Given the description of an element on the screen output the (x, y) to click on. 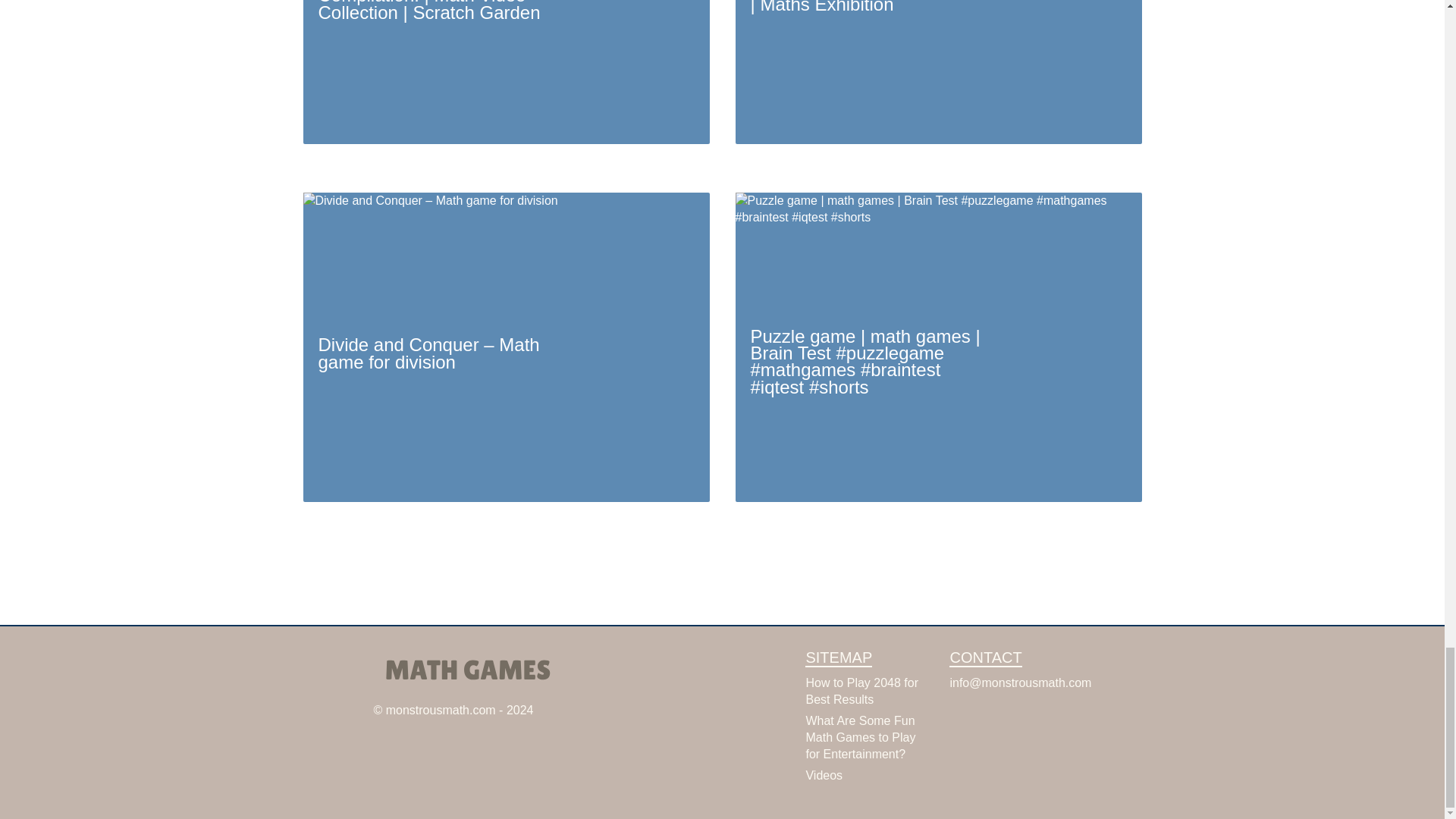
Videos (824, 775)
How to Play 2048 for Best Results (861, 690)
What Are Some Fun Math Games to Play for Entertainment? (860, 737)
